Given the description of an element on the screen output the (x, y) to click on. 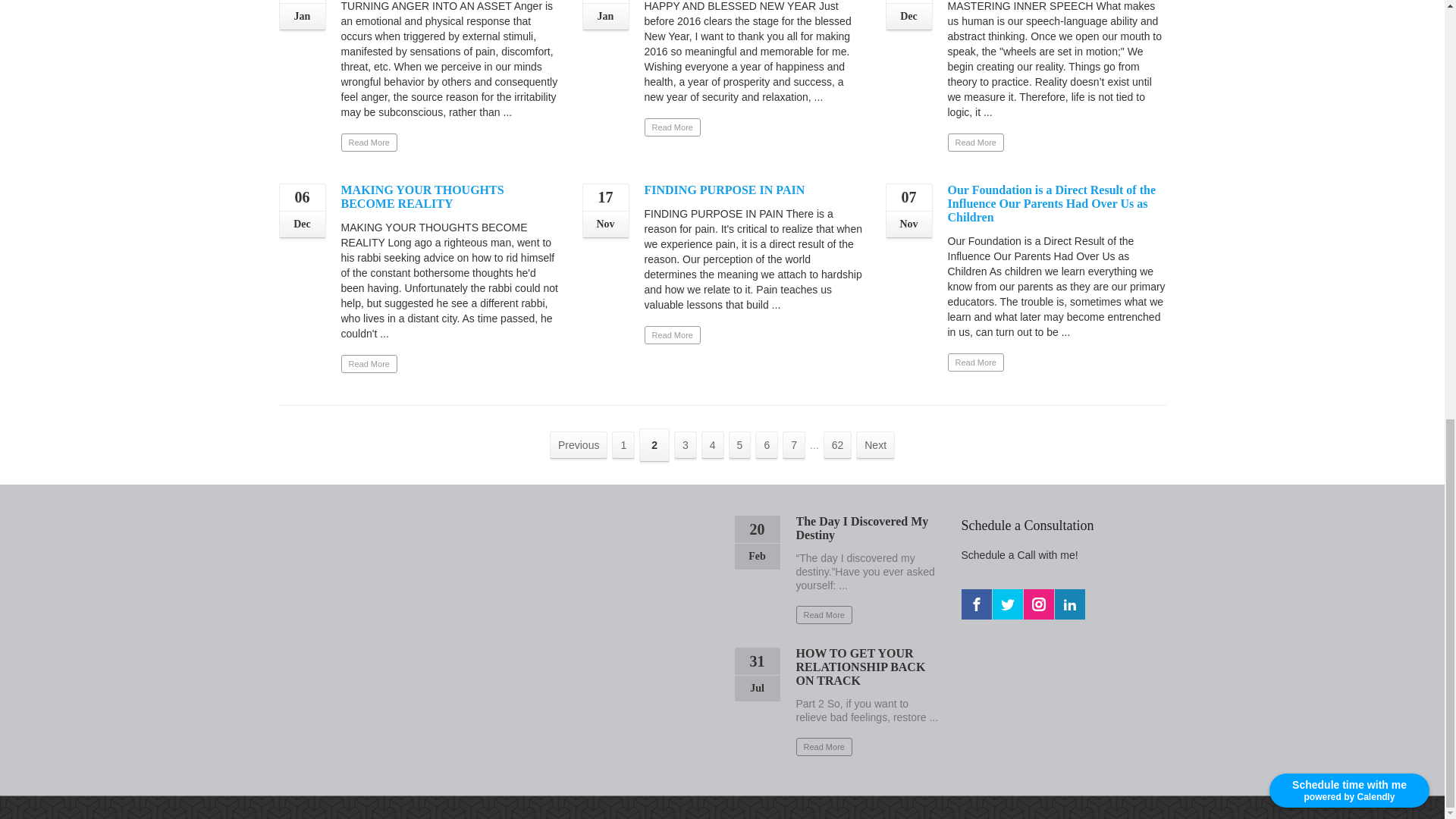
Read More (975, 142)
Read More (368, 363)
Instagram (1038, 603)
FINDING PURPOSE IN PAIN (725, 189)
Read More (368, 142)
Linkedin (1069, 603)
Previous (578, 444)
Read More (672, 334)
MAKING YOUR THOUGHTS BECOME REALITY (421, 196)
